Given the description of an element on the screen output the (x, y) to click on. 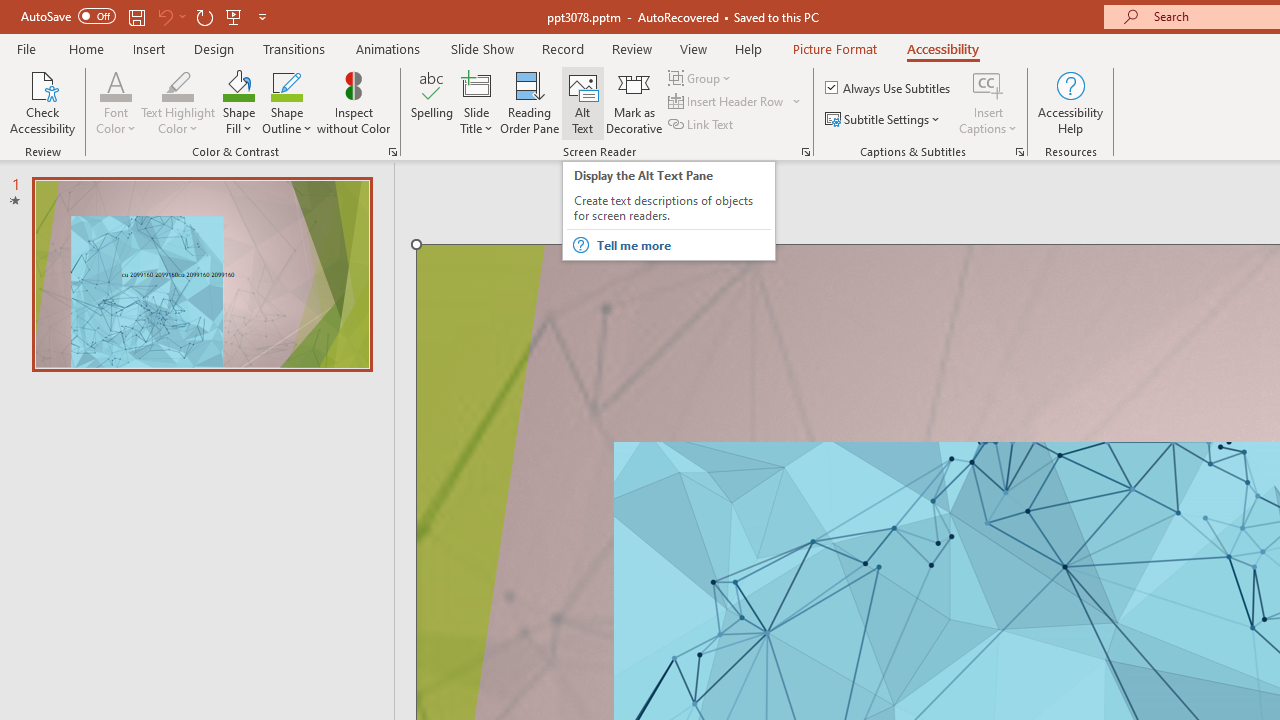
Always Use Subtitles (889, 87)
